Given the description of an element on the screen output the (x, y) to click on. 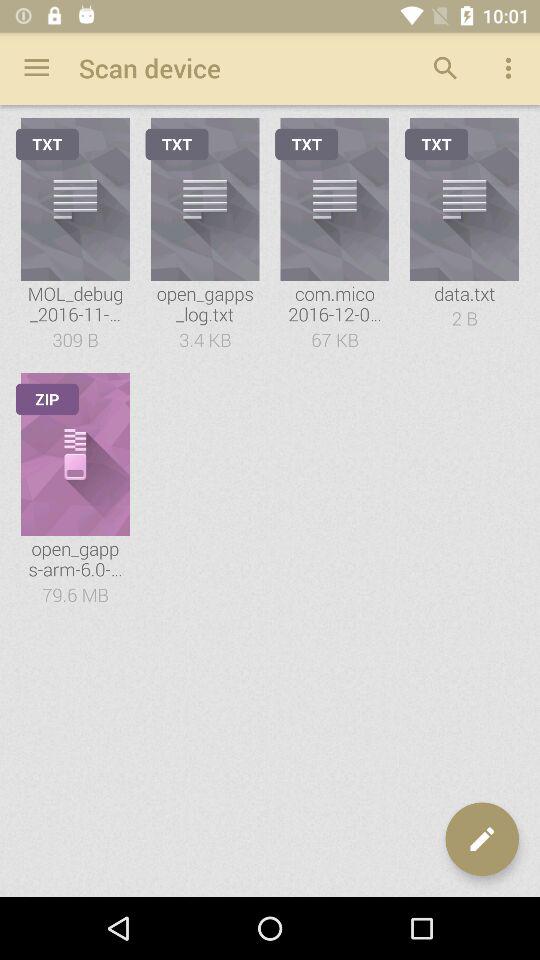
choose the item at the bottom right corner (482, 839)
